Given the description of an element on the screen output the (x, y) to click on. 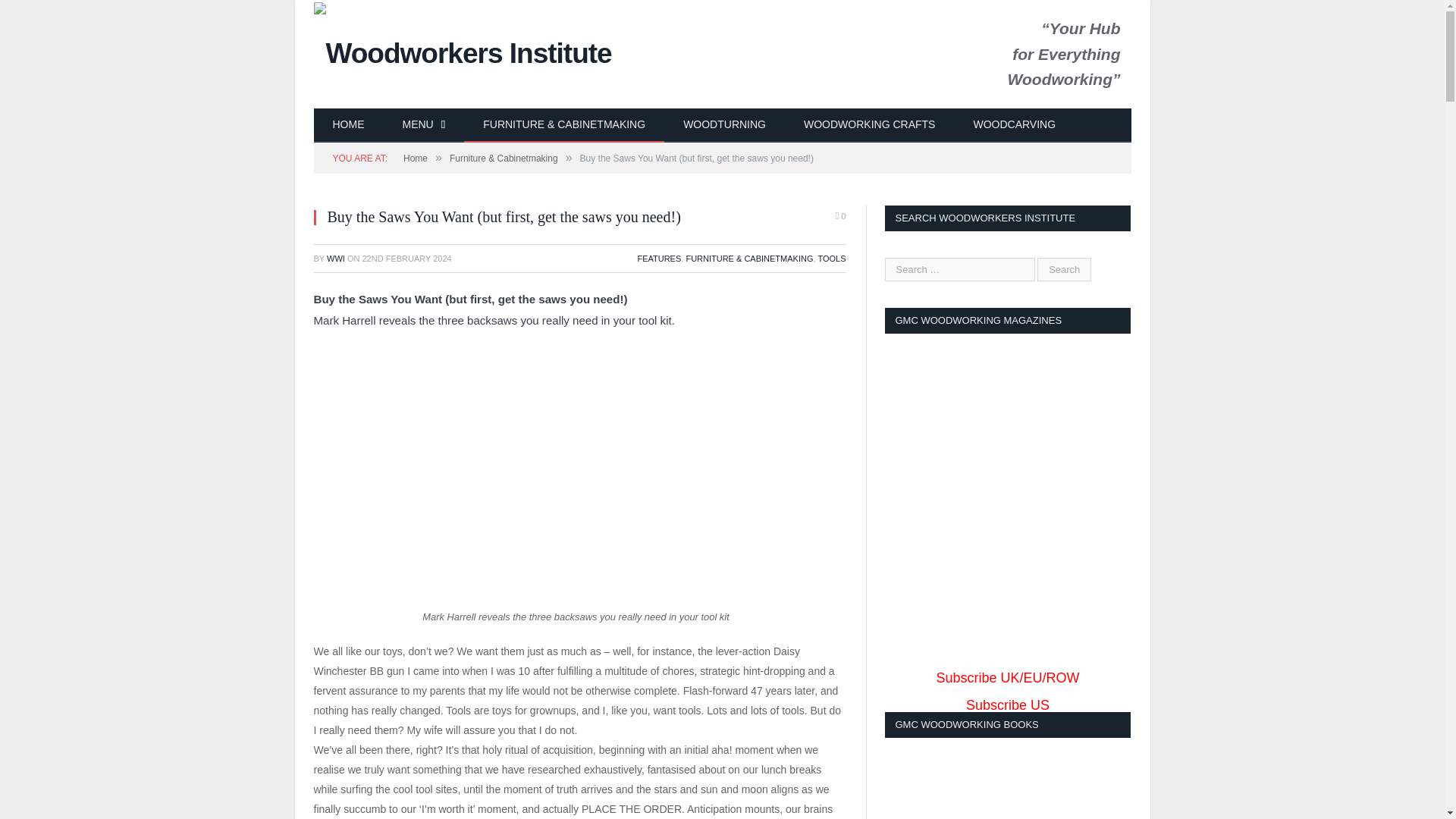
Posts by WWI (335, 257)
Search (1063, 269)
2024-02-22 (406, 257)
HOME (349, 125)
Home (415, 158)
WWI (335, 257)
FEATURES (659, 257)
Woodworkers Institute (462, 51)
WOODCARVING (1013, 125)
MENU (424, 125)
